Given the description of an element on the screen output the (x, y) to click on. 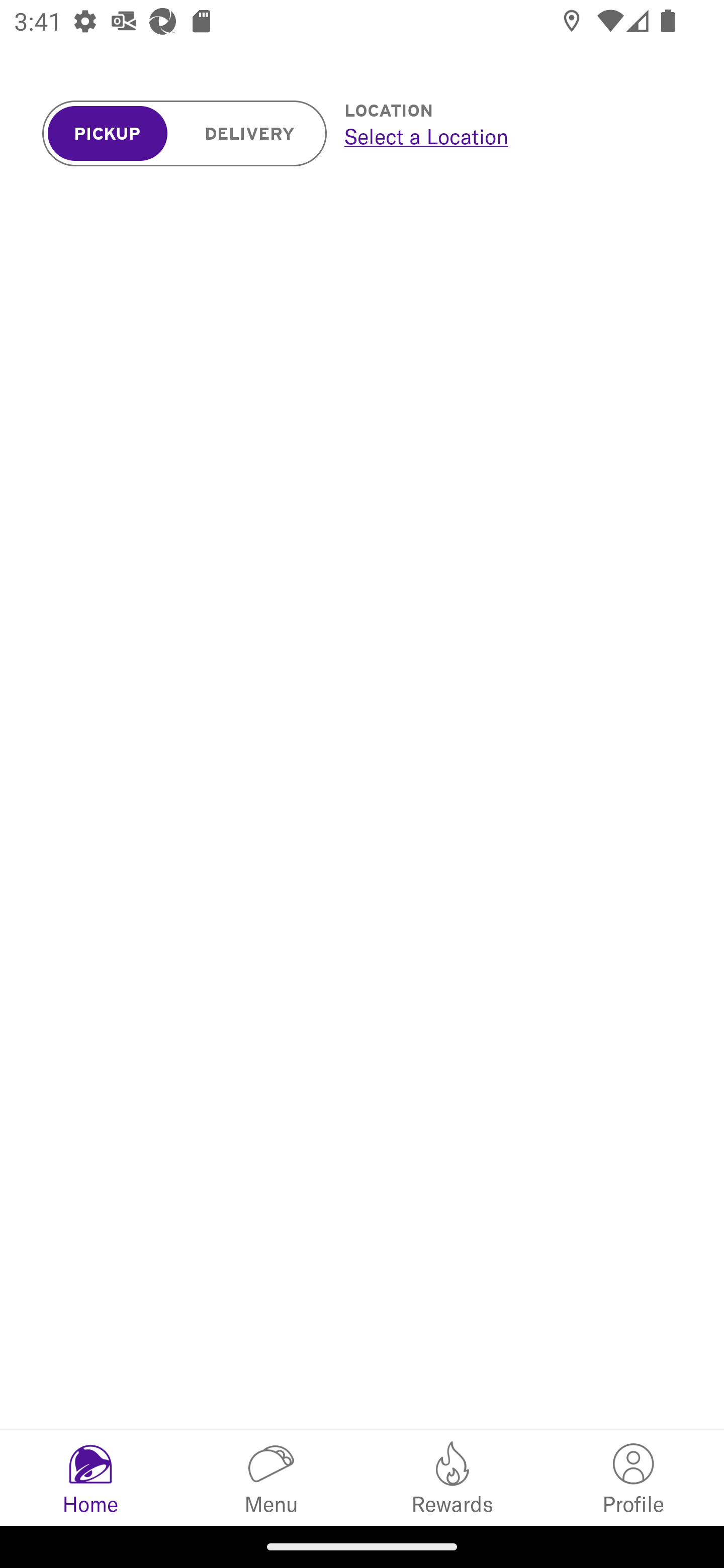
PICKUP (107, 133)
DELIVERY (249, 133)
Select a Location (511, 136)
Home (90, 1476)
Menu (271, 1476)
Rewards (452, 1476)
My Info Profile (633, 1476)
